Given the description of an element on the screen output the (x, y) to click on. 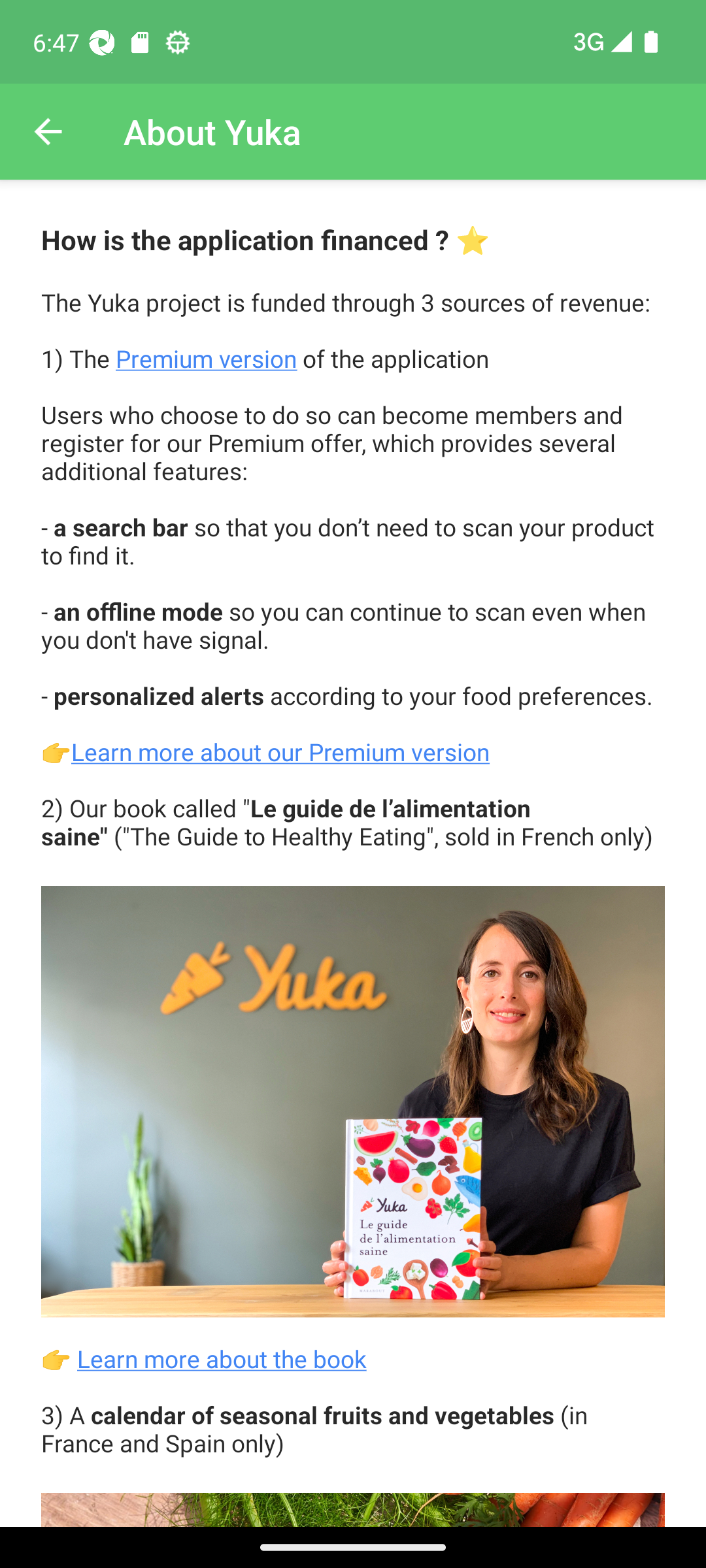
Navigate up (48, 131)
